Given the description of an element on the screen output the (x, y) to click on. 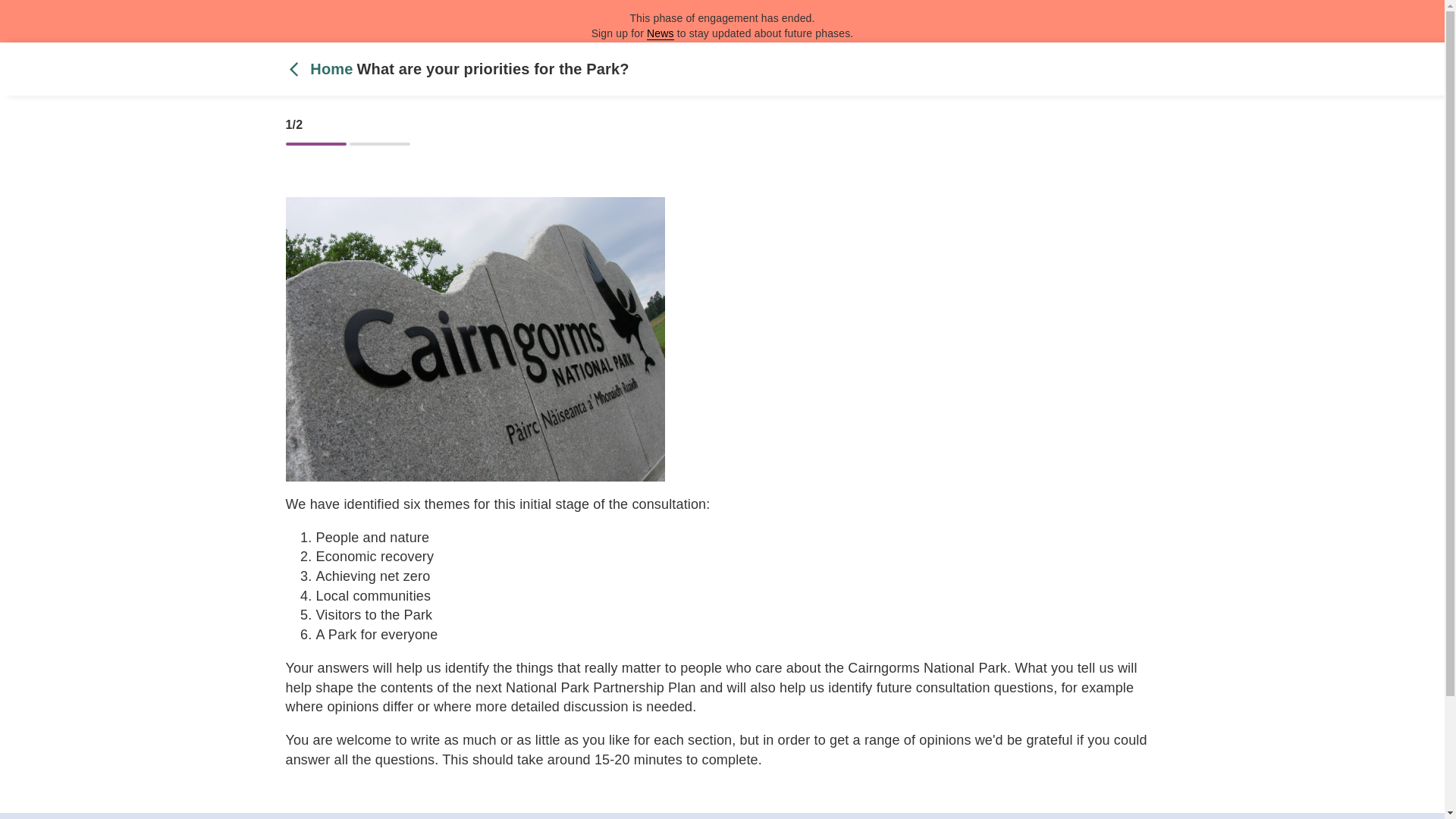
News (660, 33)
Home (320, 69)
